Given the description of an element on the screen output the (x, y) to click on. 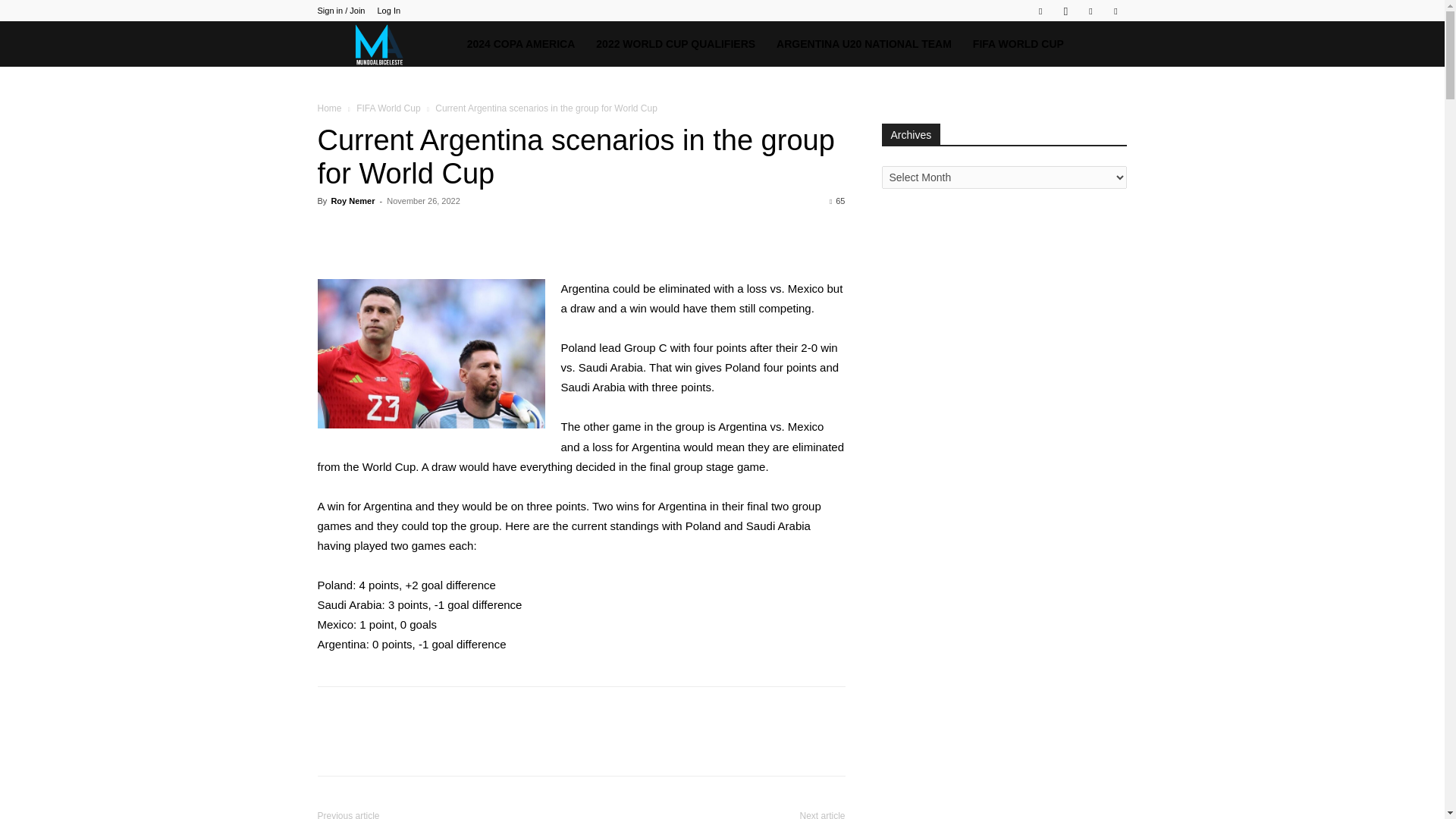
View all posts in FIFA World Cup (388, 108)
65 (837, 200)
ARGENTINA U20 NATIONAL TEAM (863, 43)
Youtube (1114, 10)
Home (328, 108)
Facebook (1040, 10)
Roy Nemer (352, 200)
Mundo Albiceleste (386, 44)
Log In (388, 10)
Twitter (1090, 10)
FIFA World Cup (388, 108)
2024 COPA AMERICA (521, 43)
FIFA WORLD CUP (1018, 43)
Instagram (1065, 10)
2022 WORLD CUP QUALIFIERS (675, 43)
